Given the description of an element on the screen output the (x, y) to click on. 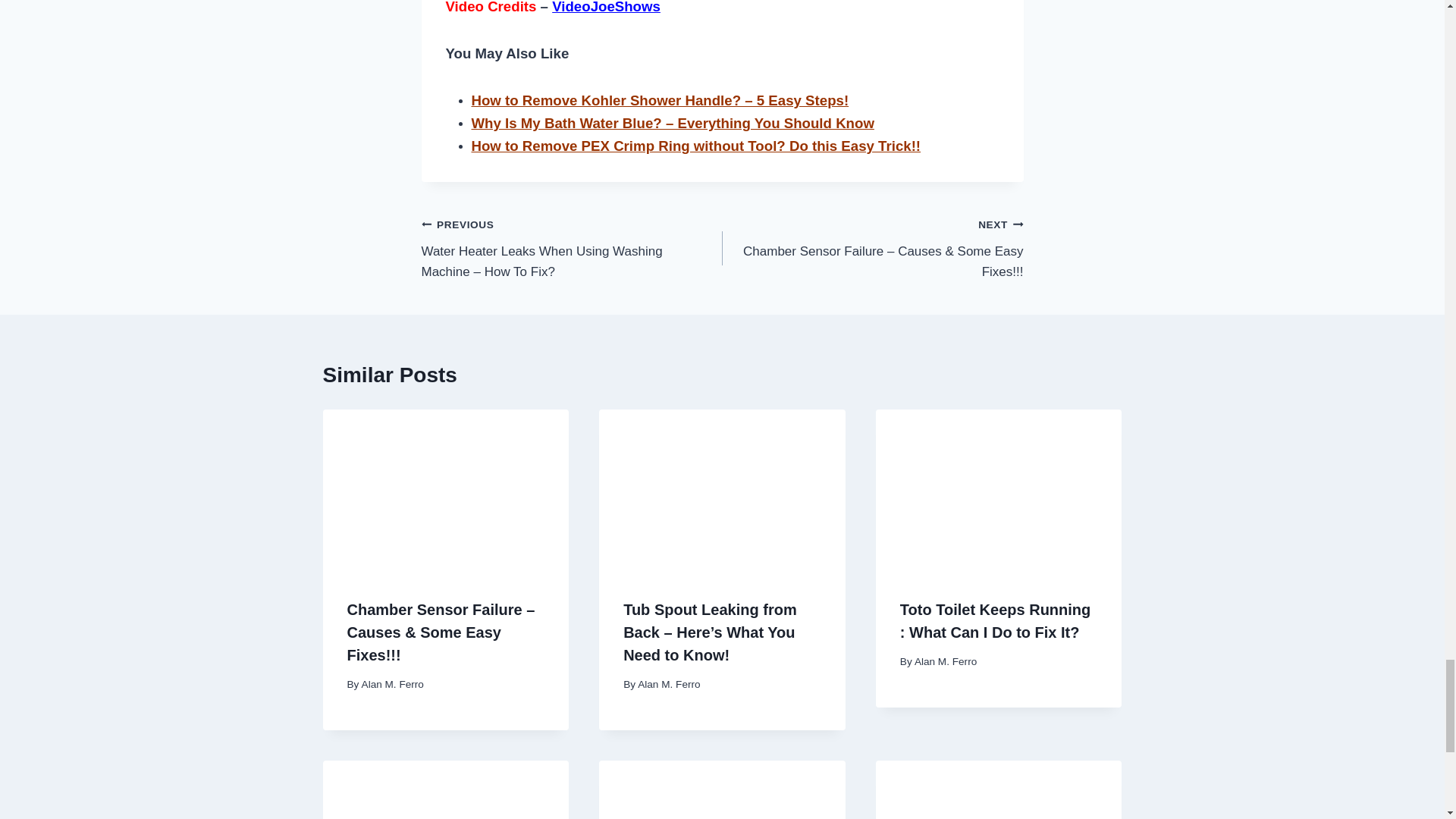
VideoJoeShows (606, 7)
Toto Toilet Keeps Running : What Can I Do to Fix It? (994, 620)
